Given the description of an element on the screen output the (x, y) to click on. 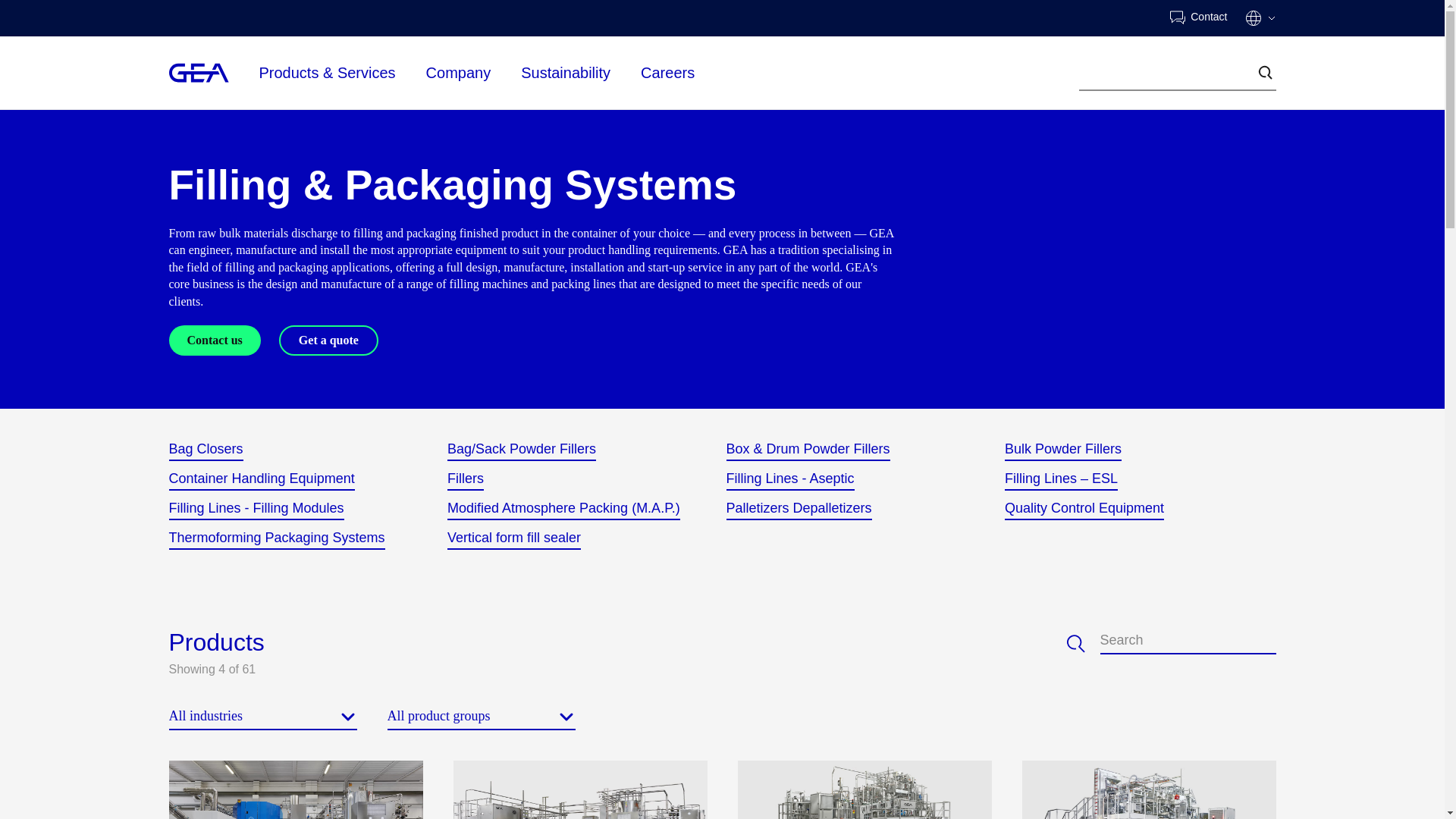
Careers (667, 72)
Thermoforming Packaging Systems (276, 538)
Filling Lines - Aseptic (790, 479)
Contact (1198, 17)
Careers (667, 71)
Container Handling Equipment (260, 479)
Quality Control Equipment (1083, 508)
Company (459, 71)
Bulk Powder Fillers (1062, 449)
Bag Closers (205, 449)
Vertical form fill sealer (513, 538)
Palletizers Depalletizers (799, 508)
Contact GEA (1198, 17)
Company (459, 72)
Fillers (464, 479)
